Given the description of an element on the screen output the (x, y) to click on. 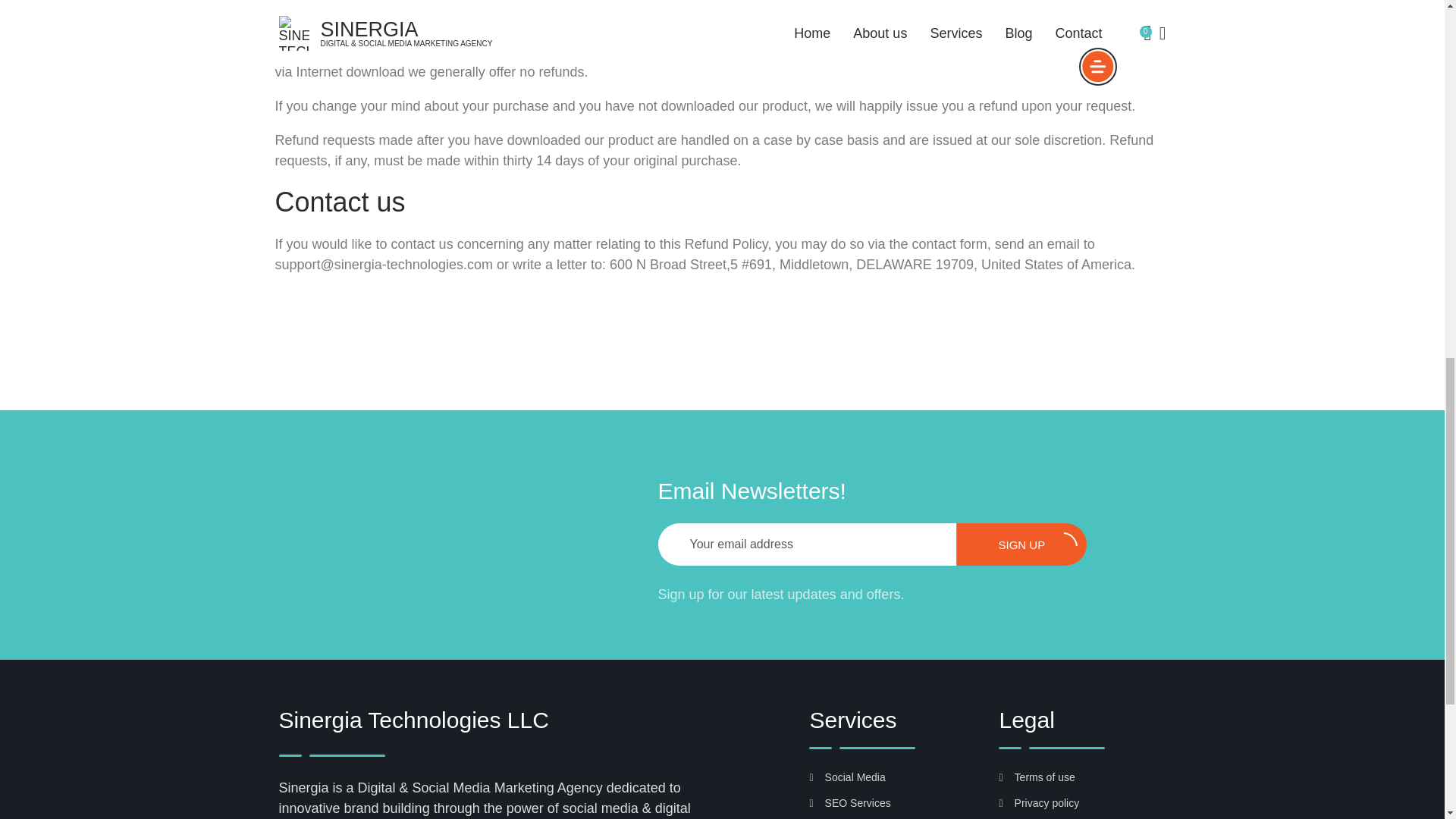
Social Media (847, 776)
SEO Services (849, 802)
SIGN UP (1021, 544)
Privacy policy (1038, 802)
Terms of use (1036, 776)
